Given the description of an element on the screen output the (x, y) to click on. 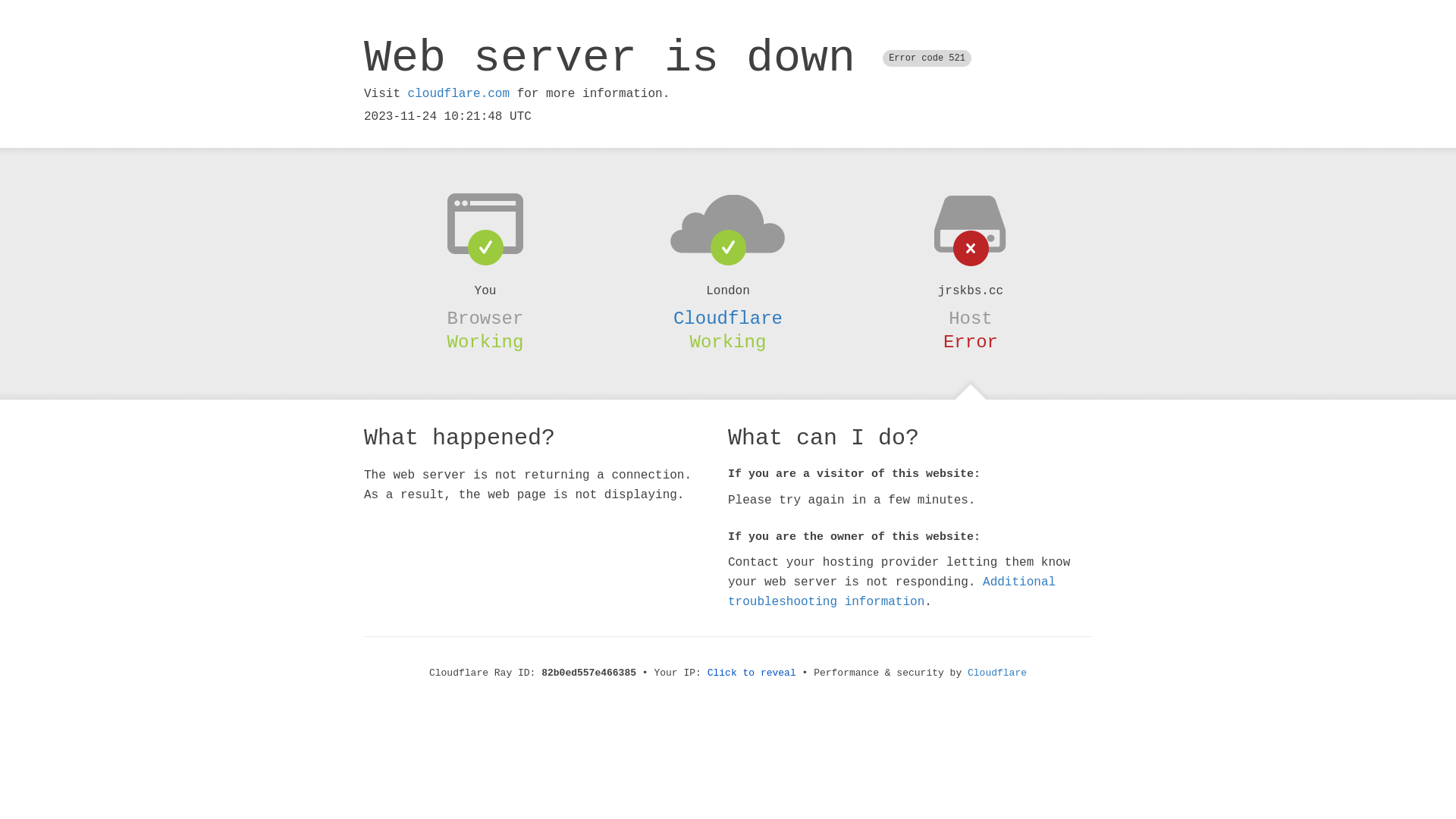
cloudflare.com Element type: text (458, 93)
Additional troubleshooting information Element type: text (891, 591)
Cloudflare Element type: text (996, 672)
Click to reveal Element type: text (751, 672)
Cloudflare Element type: text (727, 318)
